Given the description of an element on the screen output the (x, y) to click on. 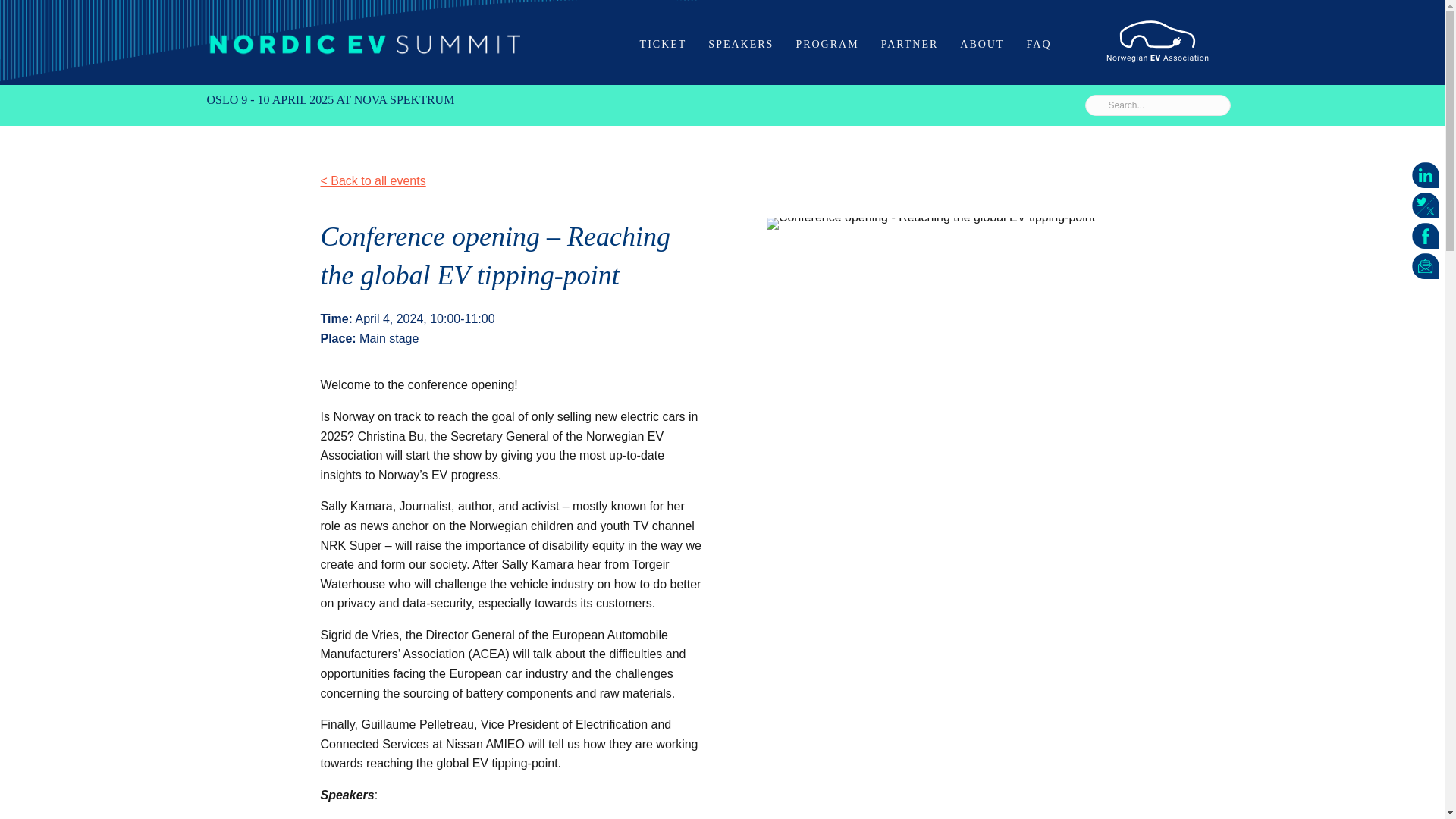
Conference opening - Reaching the global EV tipping-point (930, 223)
PROGRAM (826, 44)
TICKET (662, 44)
SPEAKERS (740, 44)
Main stage (389, 338)
FAQ (1039, 44)
ABOUT (981, 44)
PARTNER (909, 44)
